Given the description of an element on the screen output the (x, y) to click on. 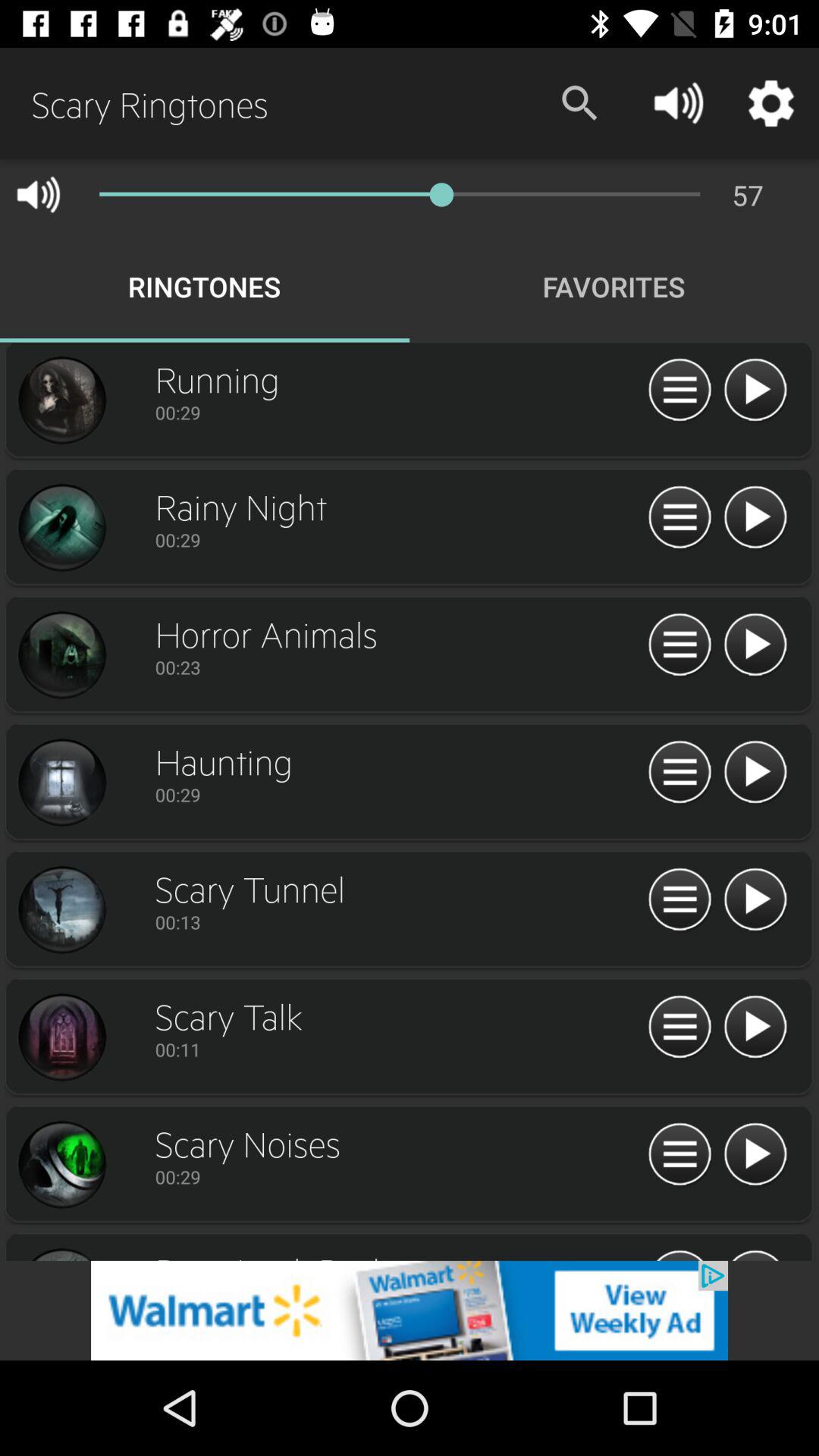
open your favorites (679, 1027)
